Given the description of an element on the screen output the (x, y) to click on. 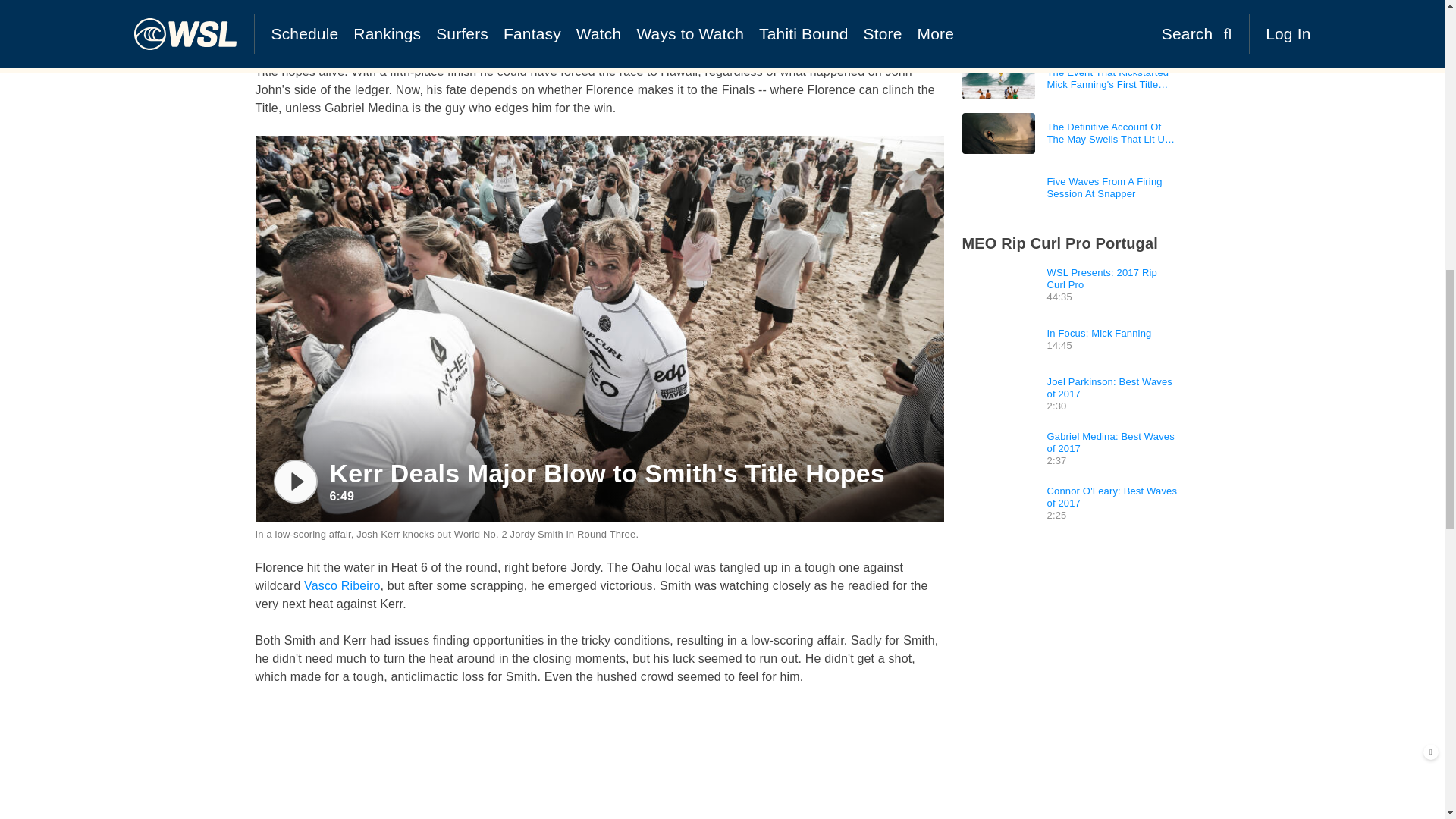
MEO Rip Curl Pro Portugal (701, 16)
Jordy Smith's (291, 16)
Vasco Ribeiro (342, 585)
Josh Kerr (500, 34)
